Given the description of an element on the screen output the (x, y) to click on. 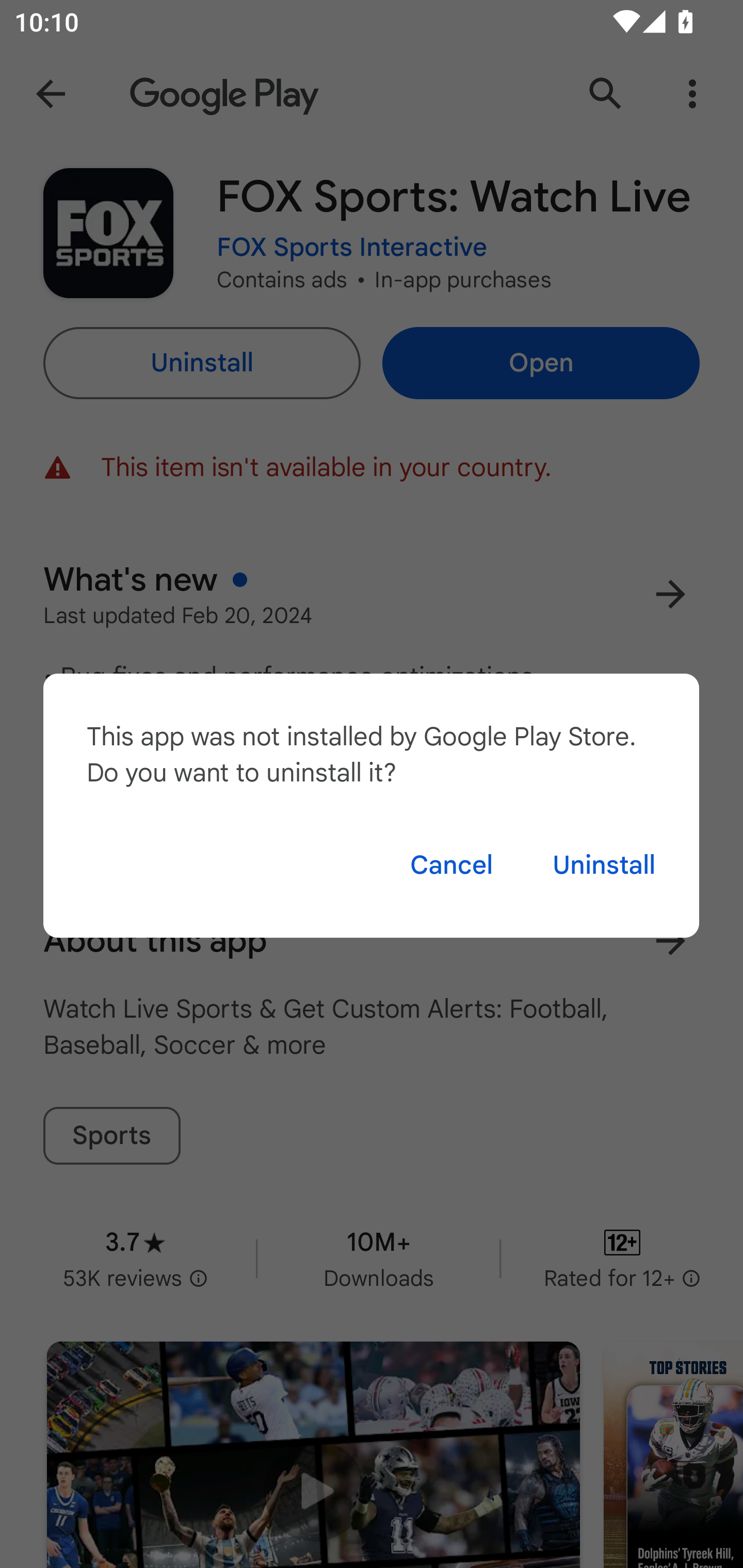
Cancel (450, 865)
Uninstall (604, 865)
